Given the description of an element on the screen output the (x, y) to click on. 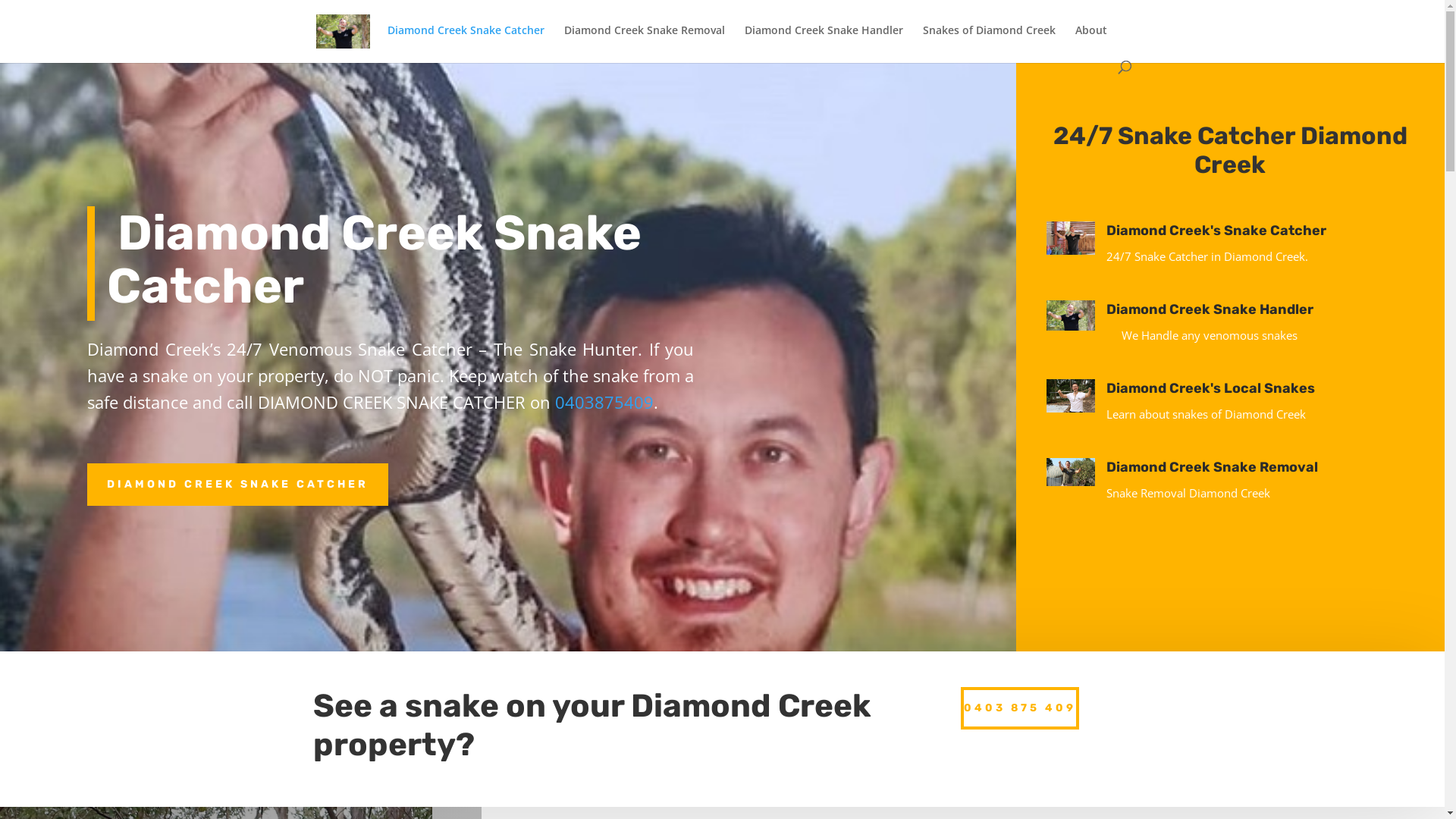
Diamond Creek's Local Snakes Element type: text (1210, 387)
Diamond Creek's Snake Catcher Element type: text (1216, 230)
DIAMOND CREEK SNAKE CATCHER Element type: text (237, 484)
About Element type: text (1091, 42)
0403875409 Element type: text (604, 401)
Snakes of Diamond Creek Element type: text (988, 42)
Diamond Creek Snake Catcher Element type: text (464, 42)
Diamond Creek Snake Removal Element type: text (644, 42)
Diamond Creek Snake Handler Element type: text (1209, 309)
Diamond Creek Snake Handler Element type: text (823, 42)
0403 875 409 Element type: text (1019, 708)
Diamond Creek Snake Removal Element type: text (1211, 466)
